Given the description of an element on the screen output the (x, y) to click on. 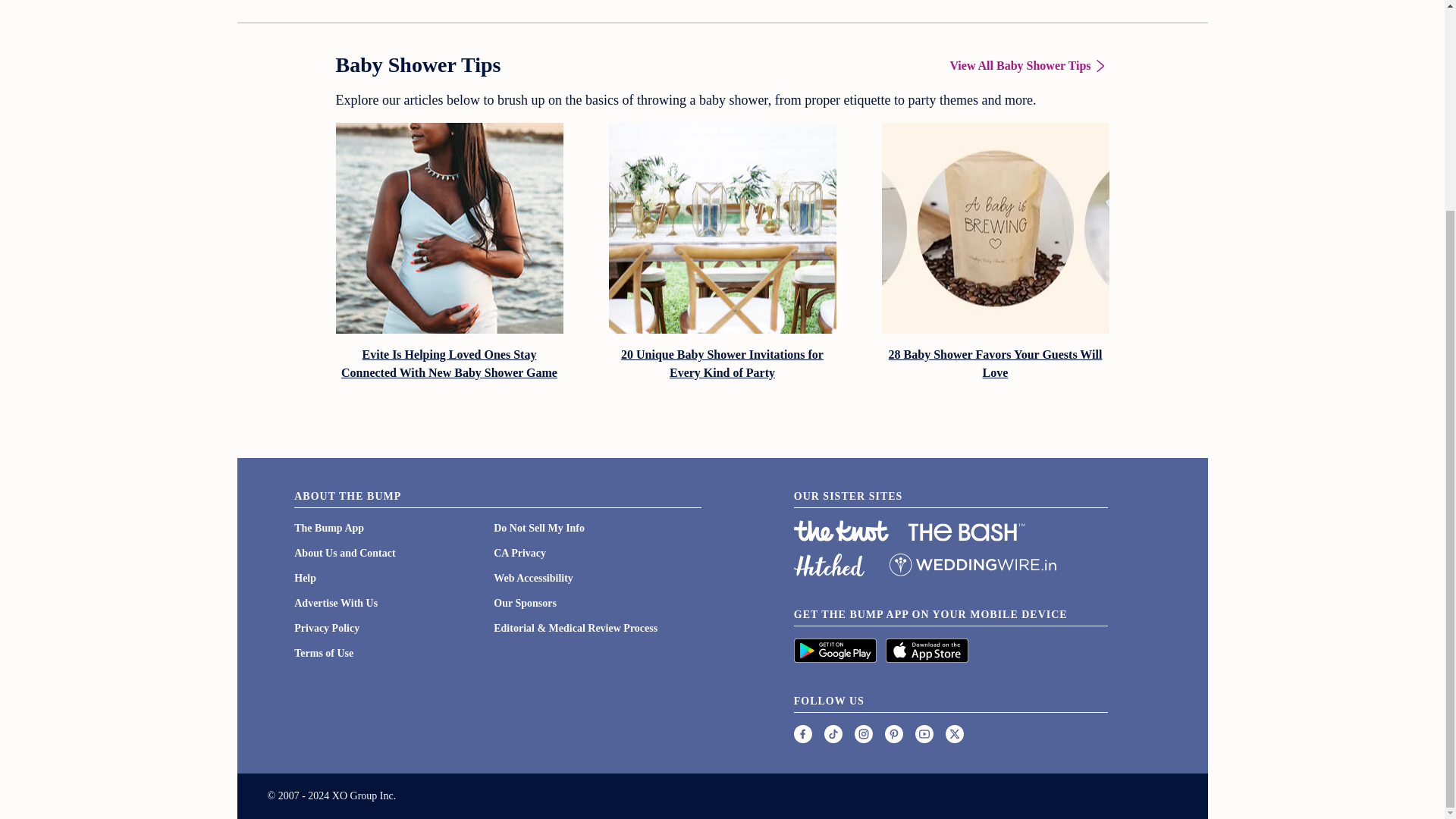
View All Baby Shower Tips (1028, 65)
Terms of Use (323, 653)
CA Privacy (519, 552)
Our Sponsors (524, 603)
The Bump App (329, 527)
About Us and Contact (344, 552)
Advertise With Us (335, 603)
Privacy Policy (326, 627)
Do Not Sell My Info (539, 527)
Web Accessibility (533, 577)
Help (304, 577)
